Given the description of an element on the screen output the (x, y) to click on. 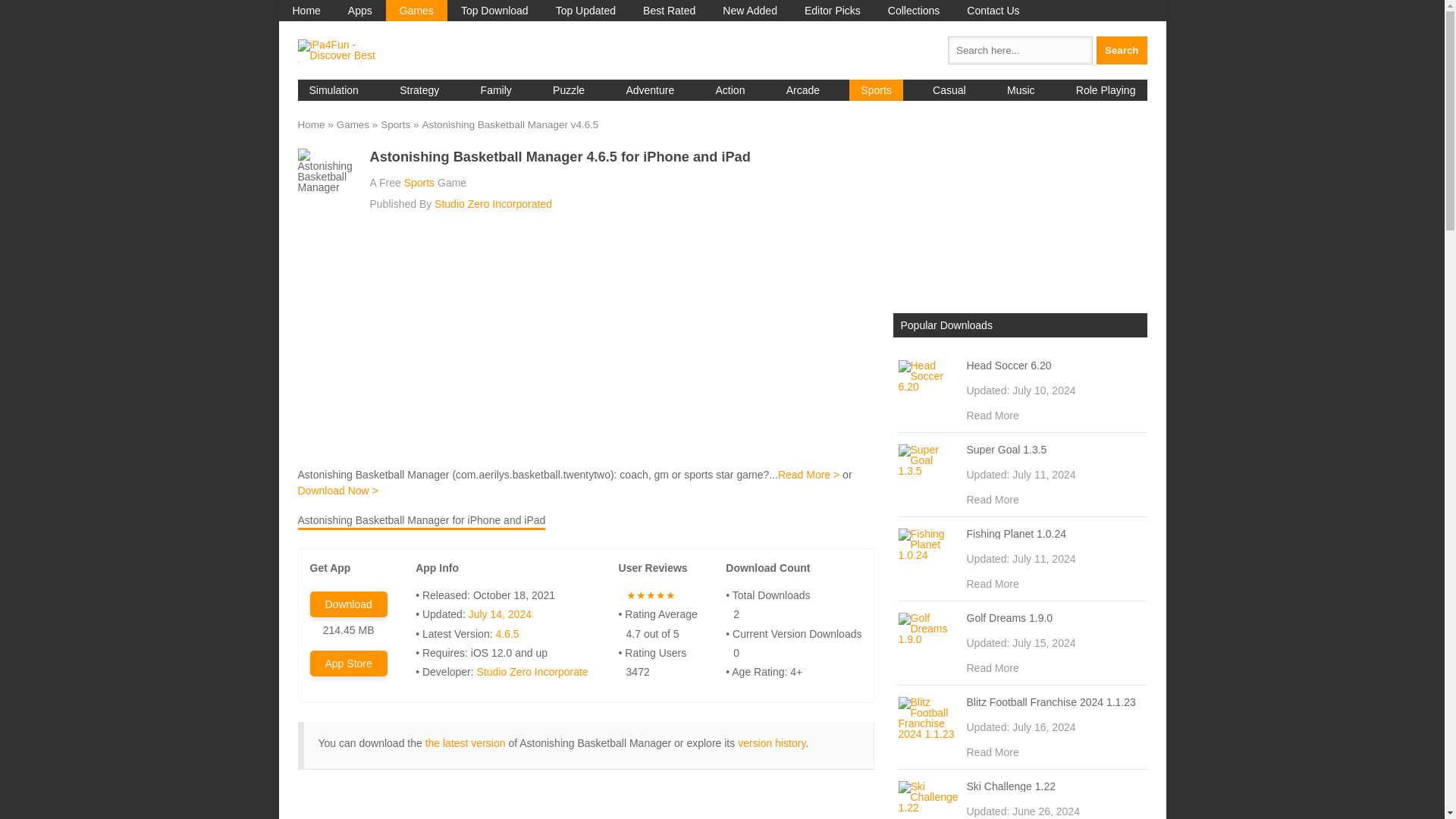
Home (306, 10)
Best Rated (668, 10)
Studio Zero Incorporated (492, 203)
Family (495, 89)
Apps (359, 10)
Games (415, 10)
Role Playing (1105, 89)
Top Updated (584, 10)
Home (306, 10)
Collections (914, 10)
Action (730, 89)
Contact Us (992, 10)
Editor Picks (832, 10)
Search (1121, 50)
New Added (749, 10)
